Given the description of an element on the screen output the (x, y) to click on. 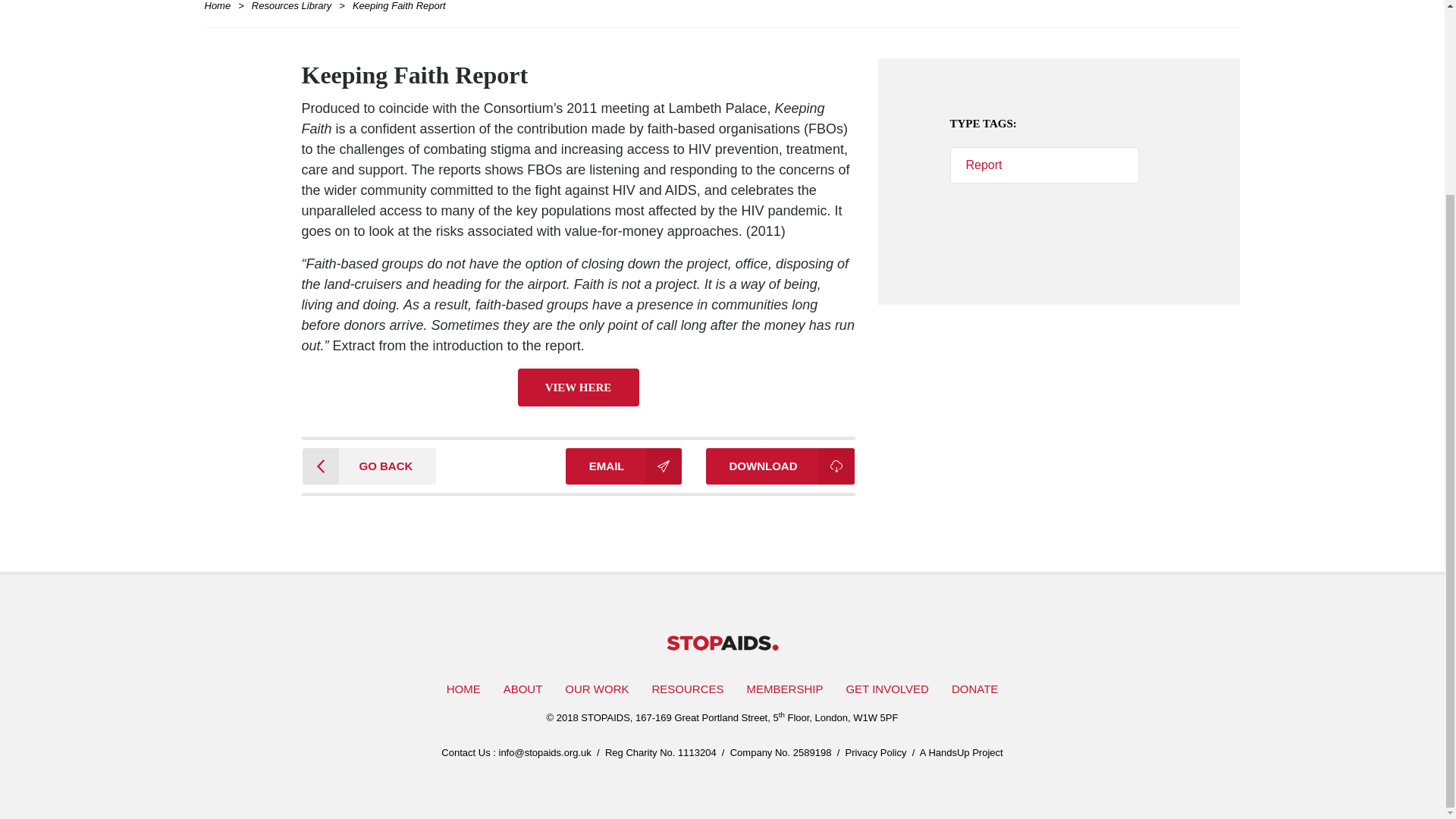
Privacy Policy (876, 752)
GET INVOLVED (886, 688)
OUR WORK (596, 688)
ABOUT (523, 688)
DONATE (974, 688)
MEMBERSHIP (784, 688)
A HandsUp Project (961, 752)
HOME (463, 688)
DOWNLOAD (780, 466)
GO BACK (369, 466)
Contact Us (465, 752)
Home (221, 5)
Resources Library (291, 5)
EMAIL (623, 466)
RESOURCES (687, 688)
